Given the description of an element on the screen output the (x, y) to click on. 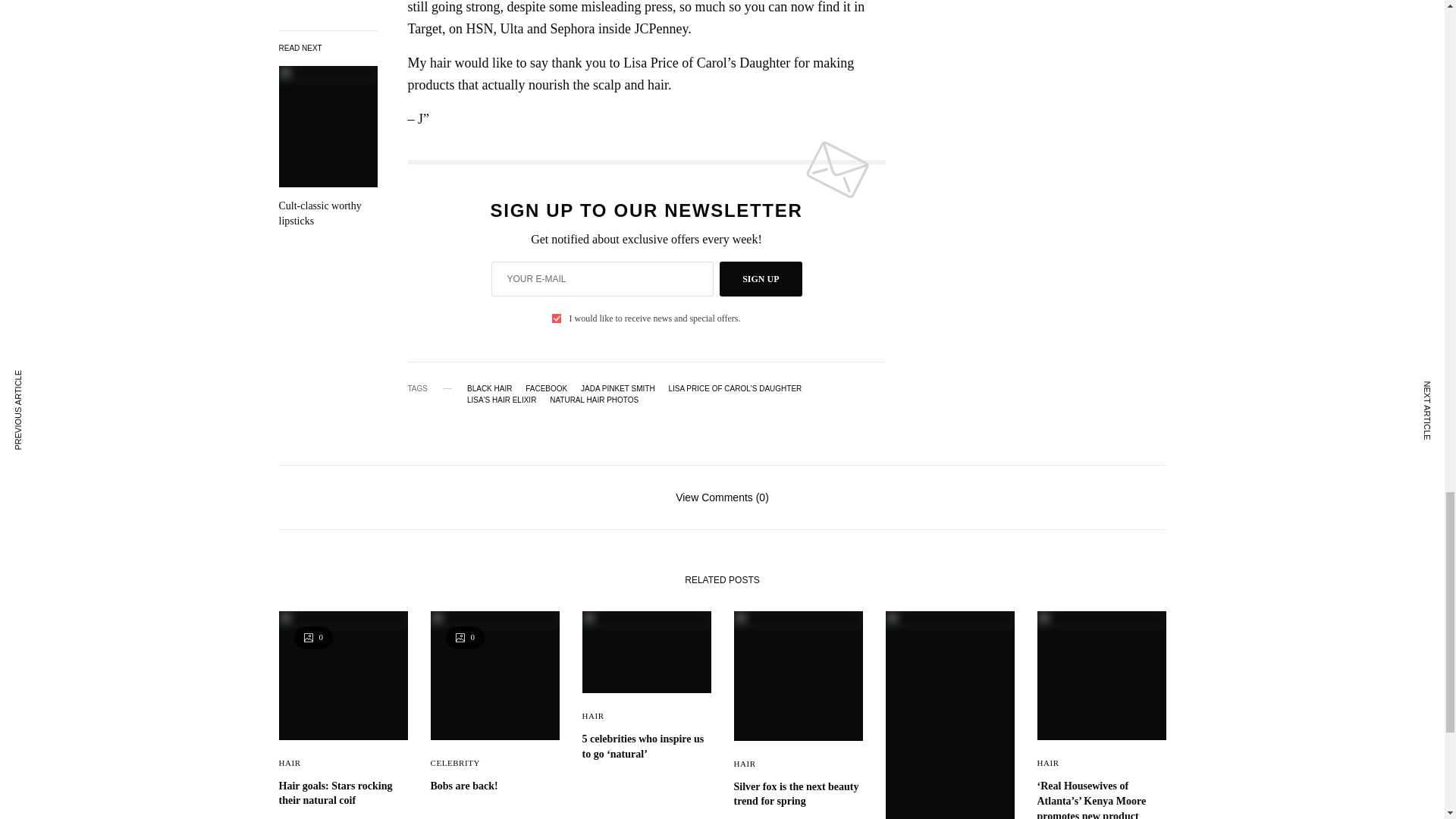
BLACK HAIR (489, 388)
Hair goals: Stars rocking their natural coif (343, 793)
HAIR (290, 762)
SIGN UP (760, 278)
FACEBOOK (546, 388)
Bobs are back! (494, 785)
HAIR (593, 715)
LISA PRICE OF CAROL'S DAUGHTER (735, 388)
NATURAL HAIR PHOTOS (594, 400)
JADA PINKET SMITH (617, 388)
